Given the description of an element on the screen output the (x, y) to click on. 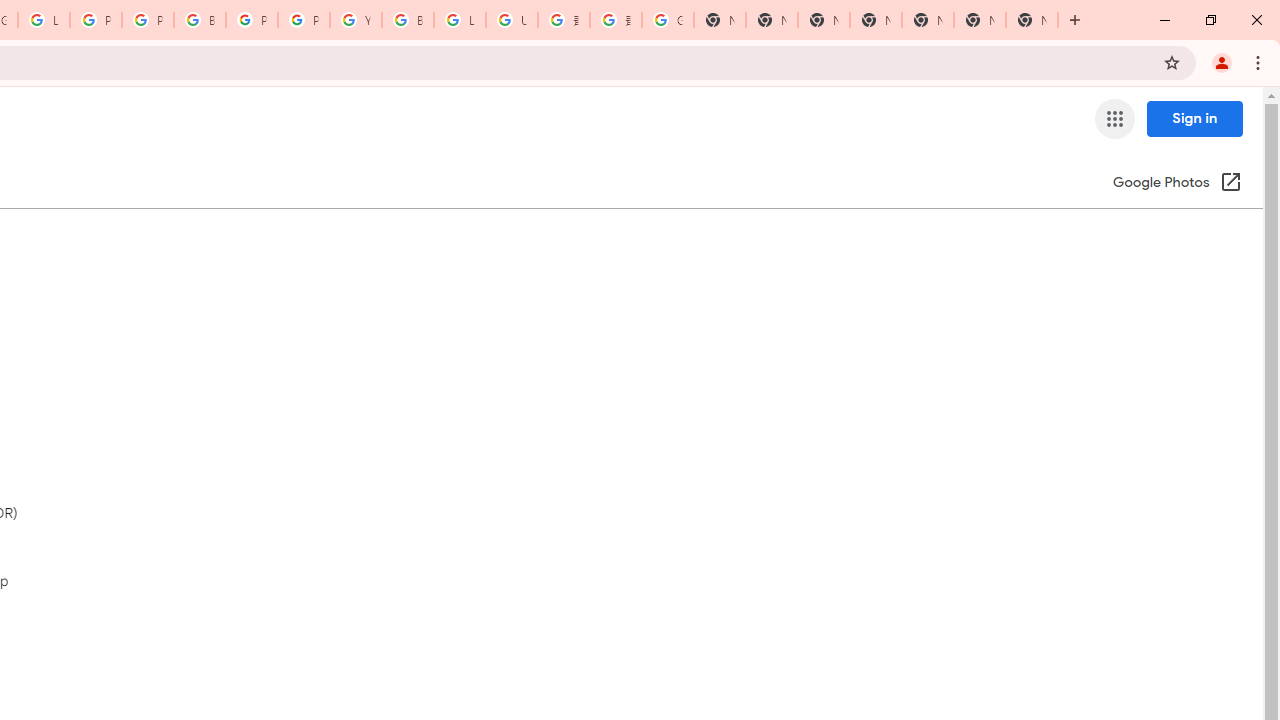
Google Images (667, 20)
YouTube (355, 20)
Browse Chrome as a guest - Computer - Google Chrome Help (407, 20)
Google apps (1114, 118)
Privacy Help Center - Policies Help (147, 20)
